Given the description of an element on the screen output the (x, y) to click on. 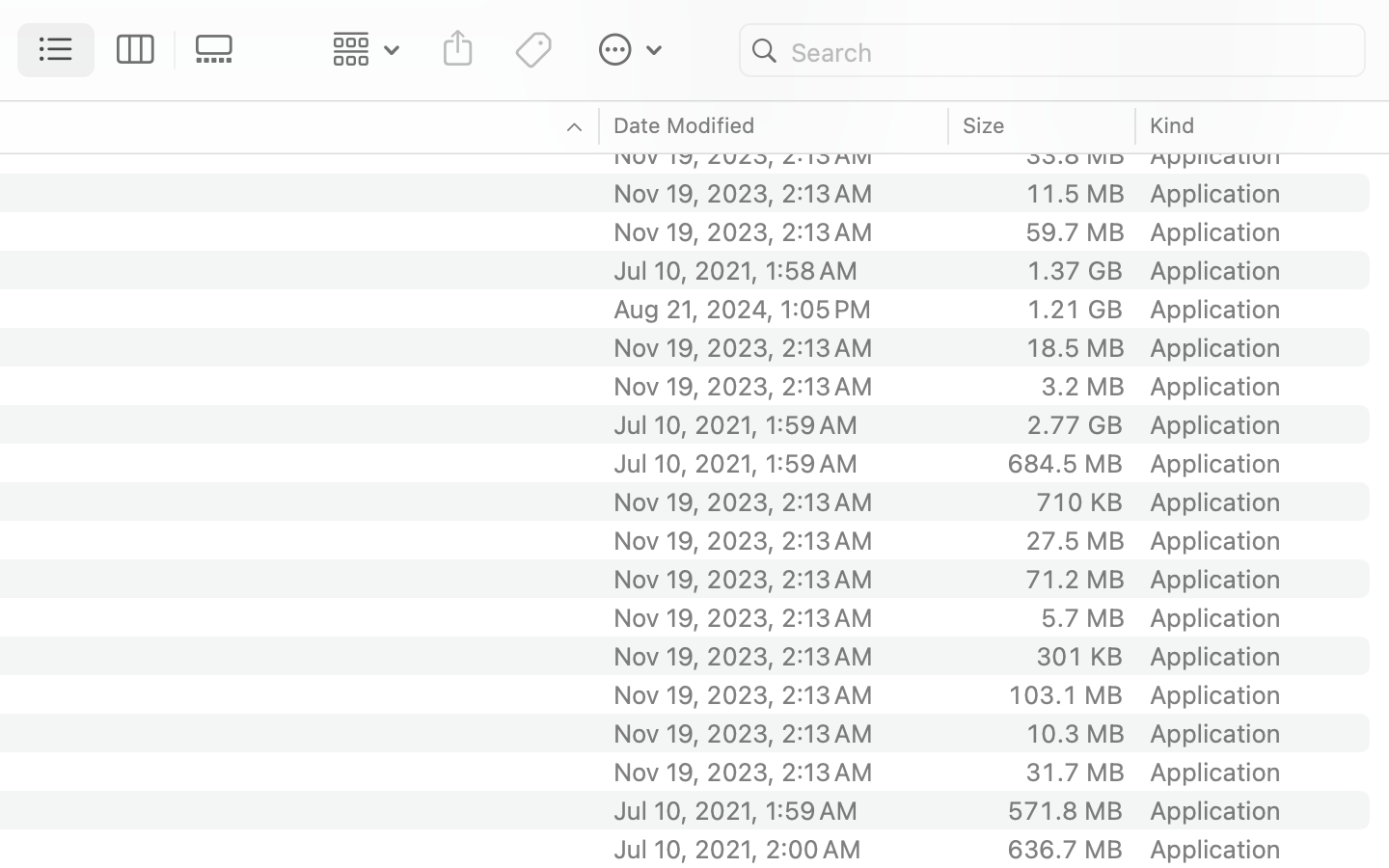
Date Modified Element type: AXStaticText (684, 124)
1.21 GB Element type: AXStaticText (1074, 308)
Application Element type: AXStaticText (1218, 76)
Jul 10, 2021, 2:00 AM Element type: AXStaticText (774, 848)
11.5 MB Element type: AXStaticText (1074, 192)
